Given the description of an element on the screen output the (x, y) to click on. 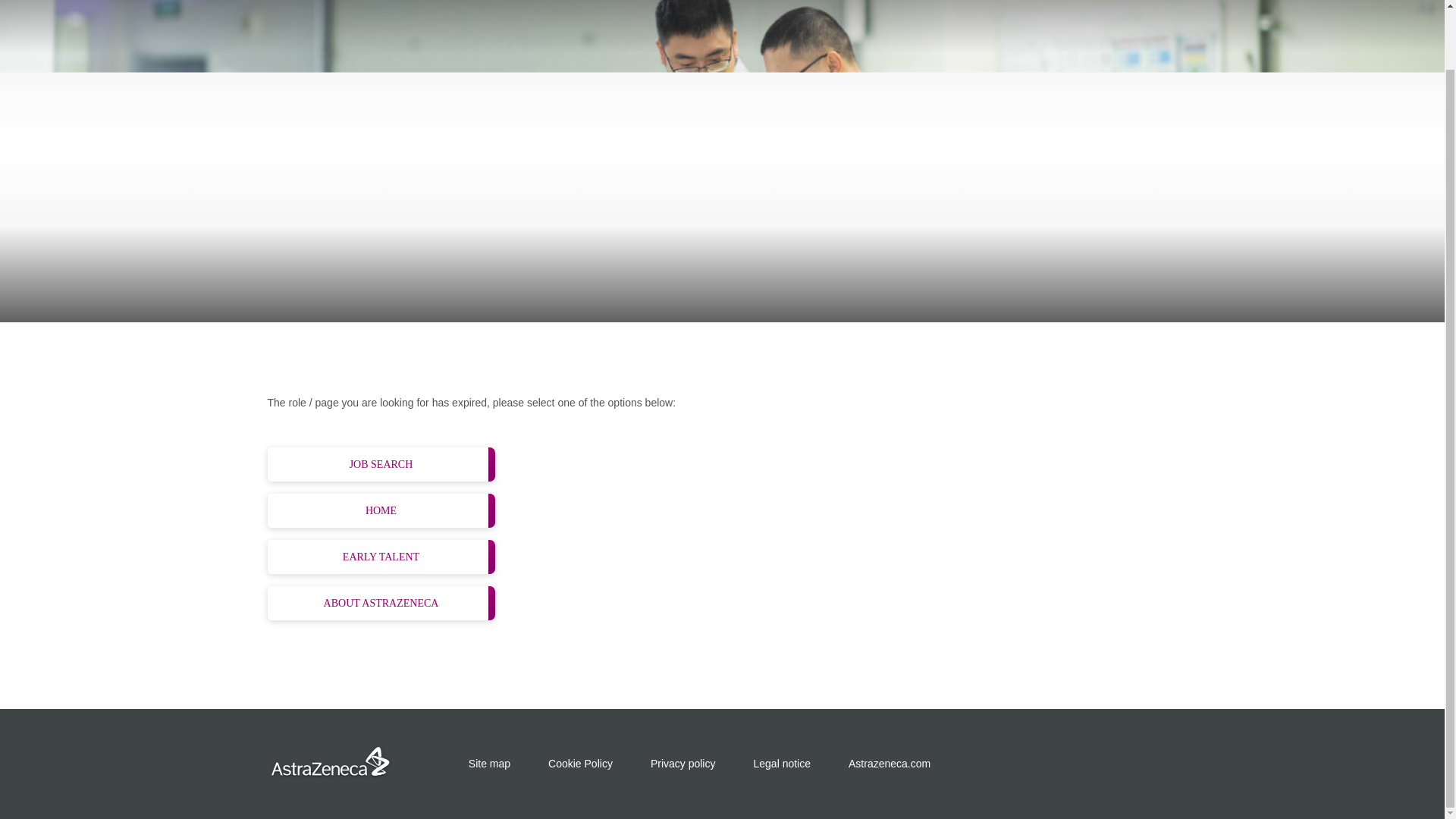
JOB SEARCH (380, 464)
HOME (380, 510)
linkedin (1091, 763)
Privacy policy (683, 763)
Astrazeneca.com (889, 763)
Site map (489, 763)
Instagram (1017, 763)
Cookie Policy (580, 763)
facebook (1054, 763)
twitter (1129, 763)
